Given the description of an element on the screen output the (x, y) to click on. 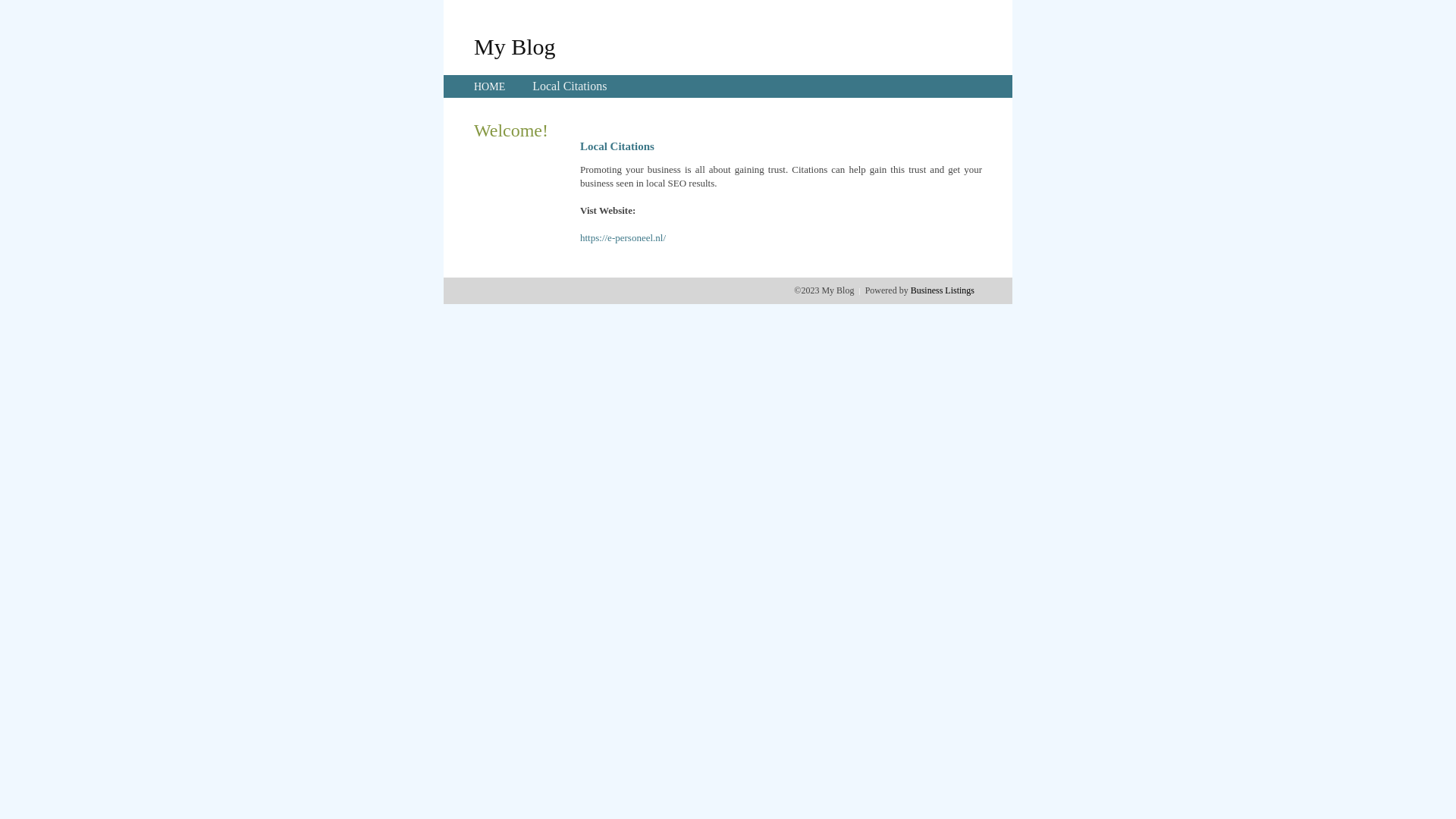
Business Listings Element type: text (942, 290)
My Blog Element type: text (514, 46)
https://e-personeel.nl/ Element type: text (622, 237)
HOME Element type: text (489, 86)
Local Citations Element type: text (569, 85)
